Given the description of an element on the screen output the (x, y) to click on. 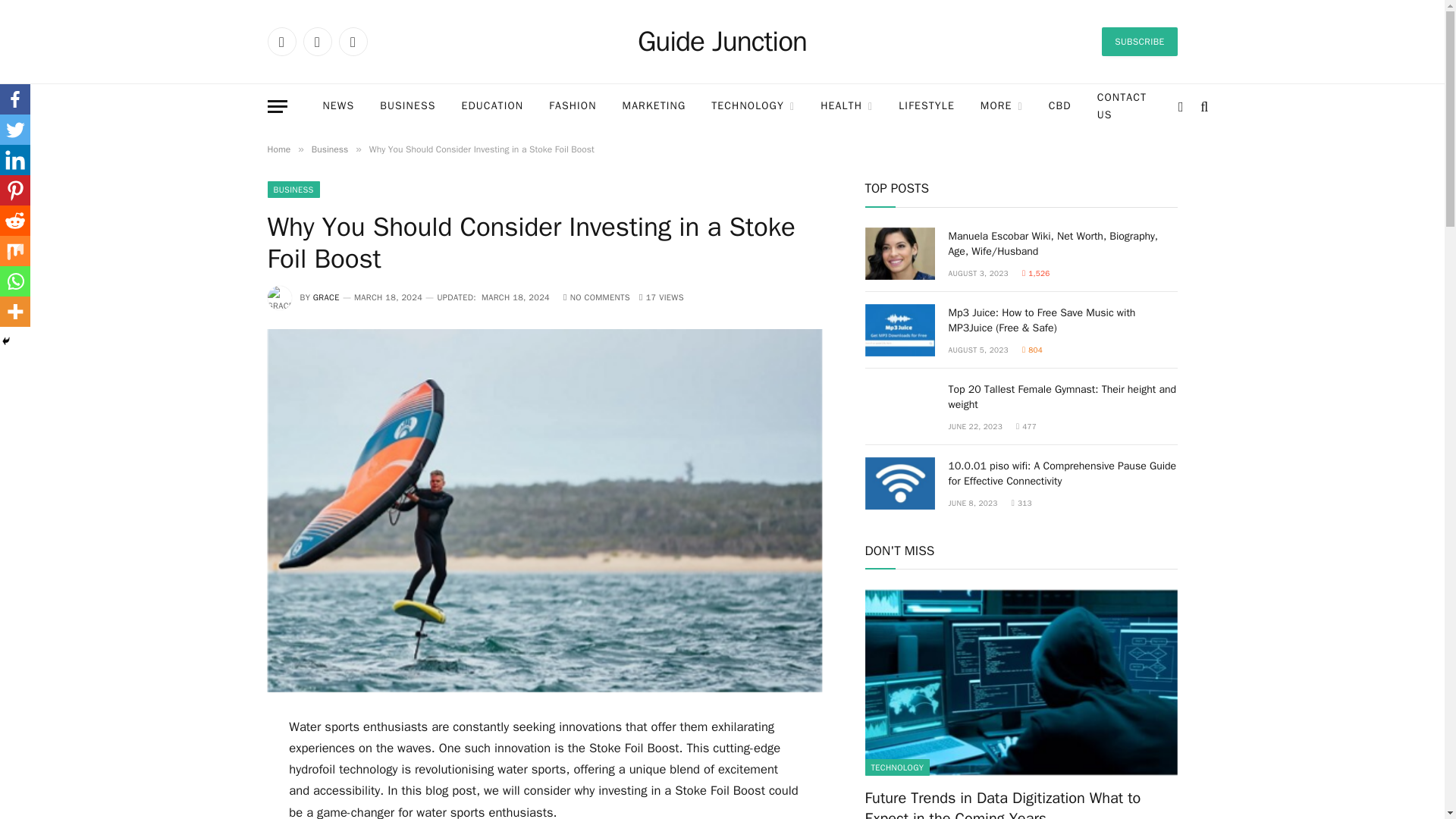
NEWS (337, 106)
Guide Junction (721, 41)
Switch to Dark Design - easier on eyes. (1180, 106)
Guide Junction (721, 41)
Instagram (351, 41)
MORE (1001, 106)
Posts by Grace (326, 296)
HEALTH (846, 106)
17 Article Views (661, 296)
CONTACT US (1121, 106)
